Given the description of an element on the screen output the (x, y) to click on. 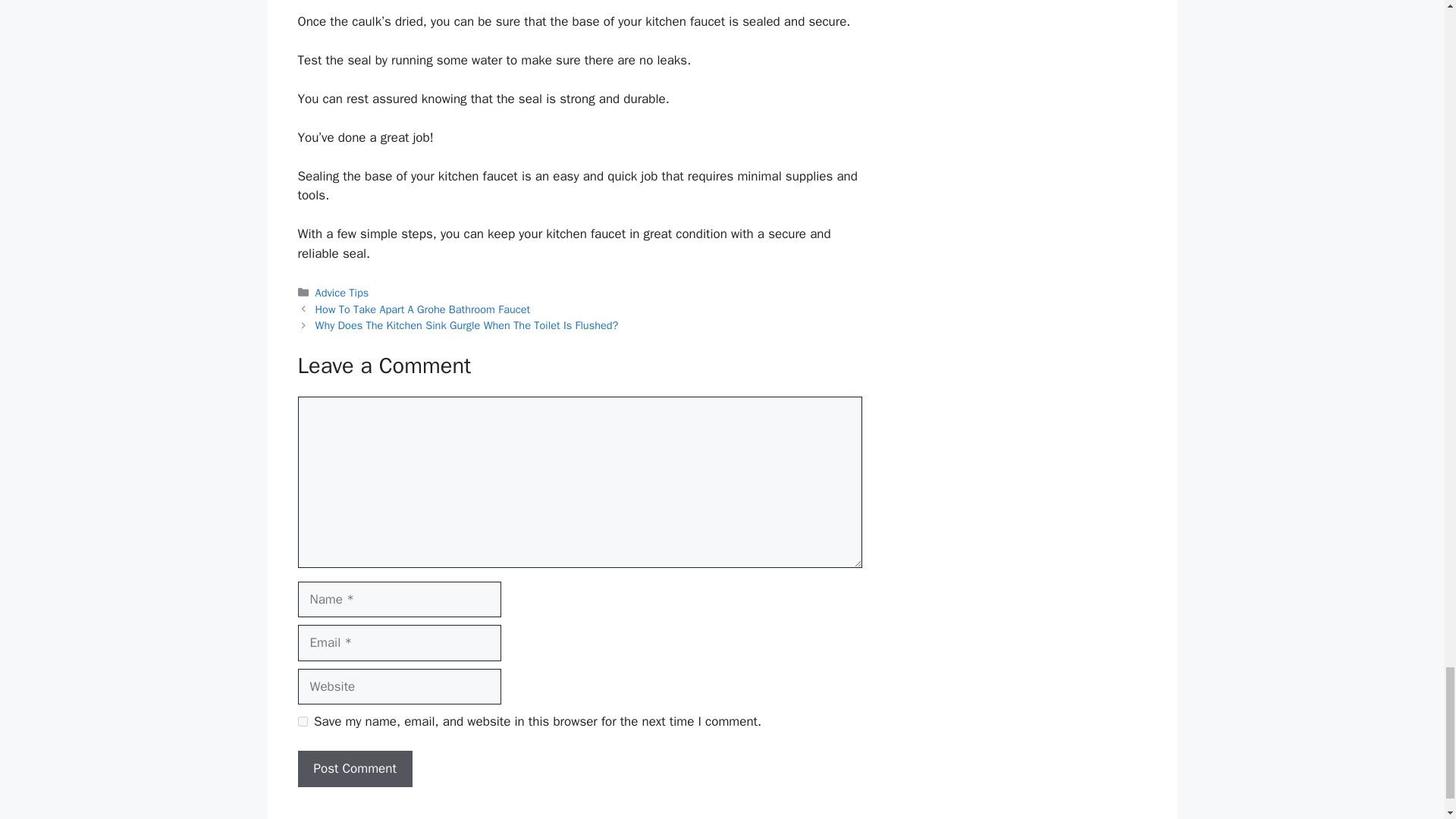
Advice Tips (342, 292)
Post Comment (354, 769)
yes (302, 721)
How To Take Apart A Grohe Bathroom Faucet (422, 309)
Post Comment (354, 769)
Why Does The Kitchen Sink Gurgle When The Toilet Is Flushed? (466, 325)
